Given the description of an element on the screen output the (x, y) to click on. 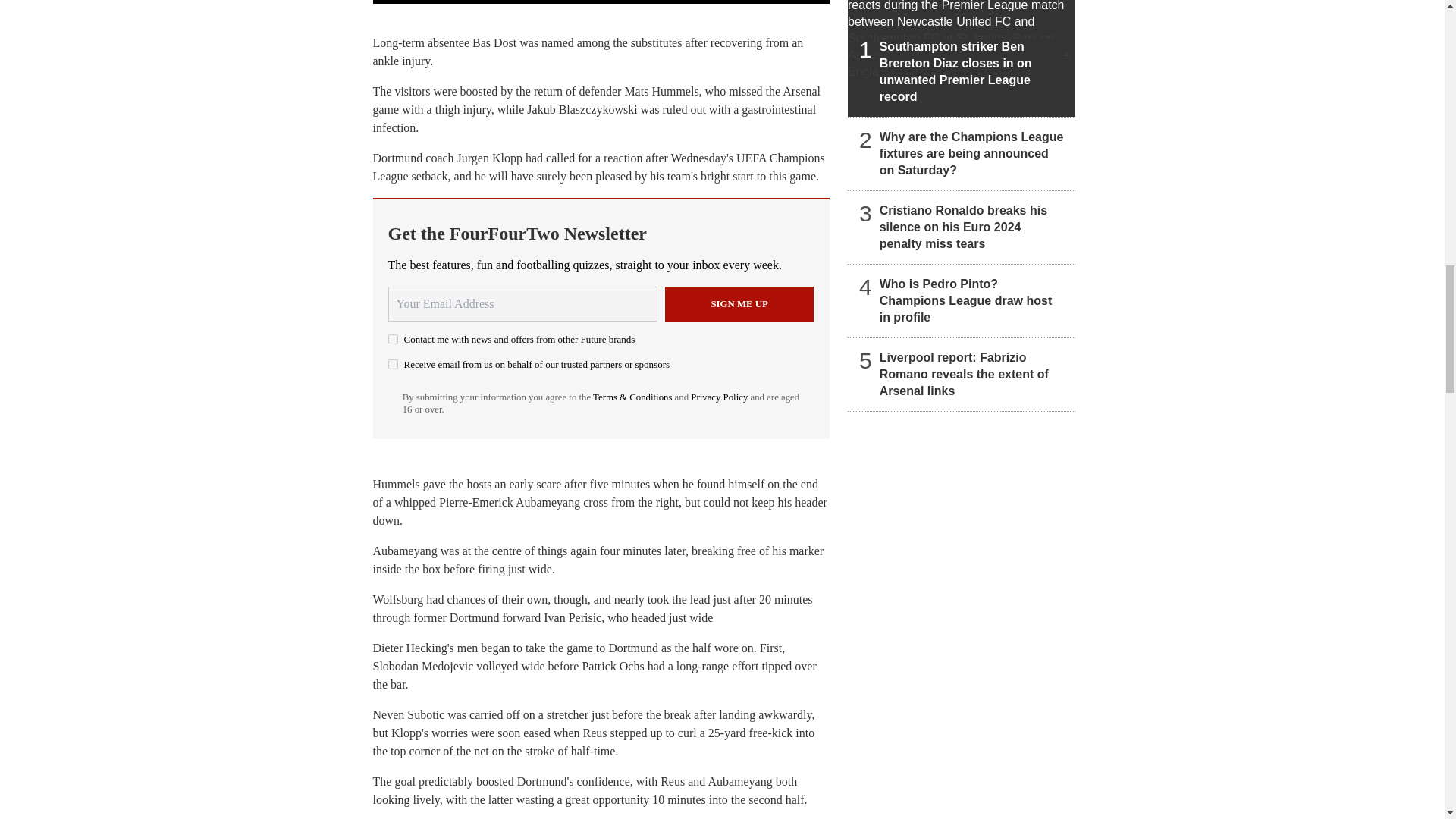
on (392, 338)
Sign me up (739, 303)
on (392, 364)
